Given the description of an element on the screen output the (x, y) to click on. 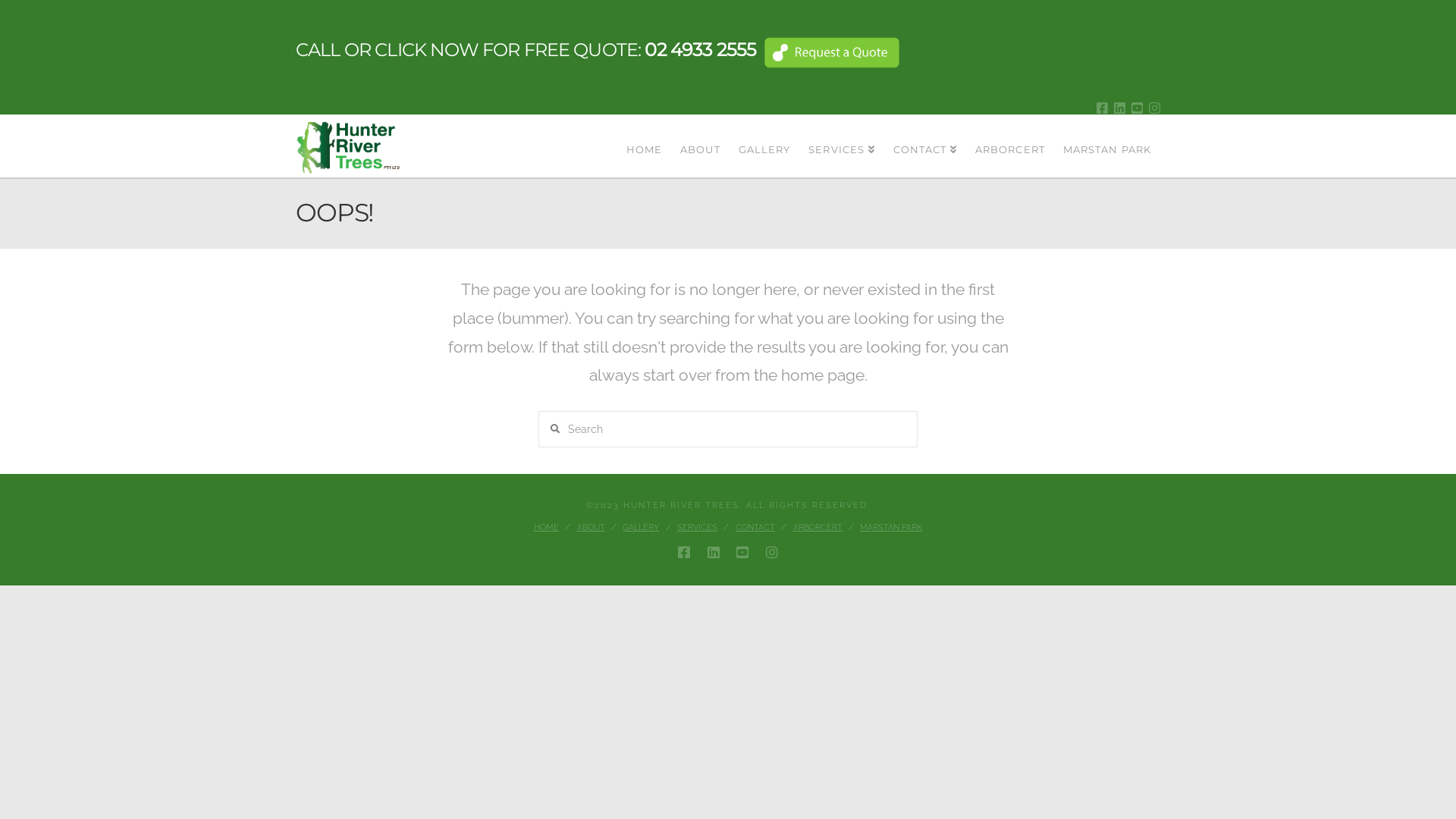
CONTACT Element type: text (925, 129)
HOME Element type: text (545, 527)
GALLERY Element type: text (640, 527)
LinkedIn Element type: hover (1119, 107)
YouTube Element type: hover (742, 551)
Instagram Element type: hover (1154, 107)
GALLERY Element type: text (764, 129)
CONTACT Element type: text (755, 527)
LinkedIn Element type: hover (713, 551)
Instagram Element type: hover (771, 551)
Facebook Element type: hover (1101, 107)
YouTube Element type: hover (1136, 107)
SERVICES Element type: text (841, 129)
HOME Element type: text (643, 129)
ARBORCERT Element type: text (817, 527)
ABOUT Element type: text (699, 129)
ARBORCERT Element type: text (1010, 129)
ABOUT Element type: text (590, 527)
Facebook Element type: hover (683, 551)
SERVICES Element type: text (697, 527)
MARSTAN PARK Element type: text (890, 527)
MARSTAN PARK Element type: text (1107, 129)
